Given the description of an element on the screen output the (x, y) to click on. 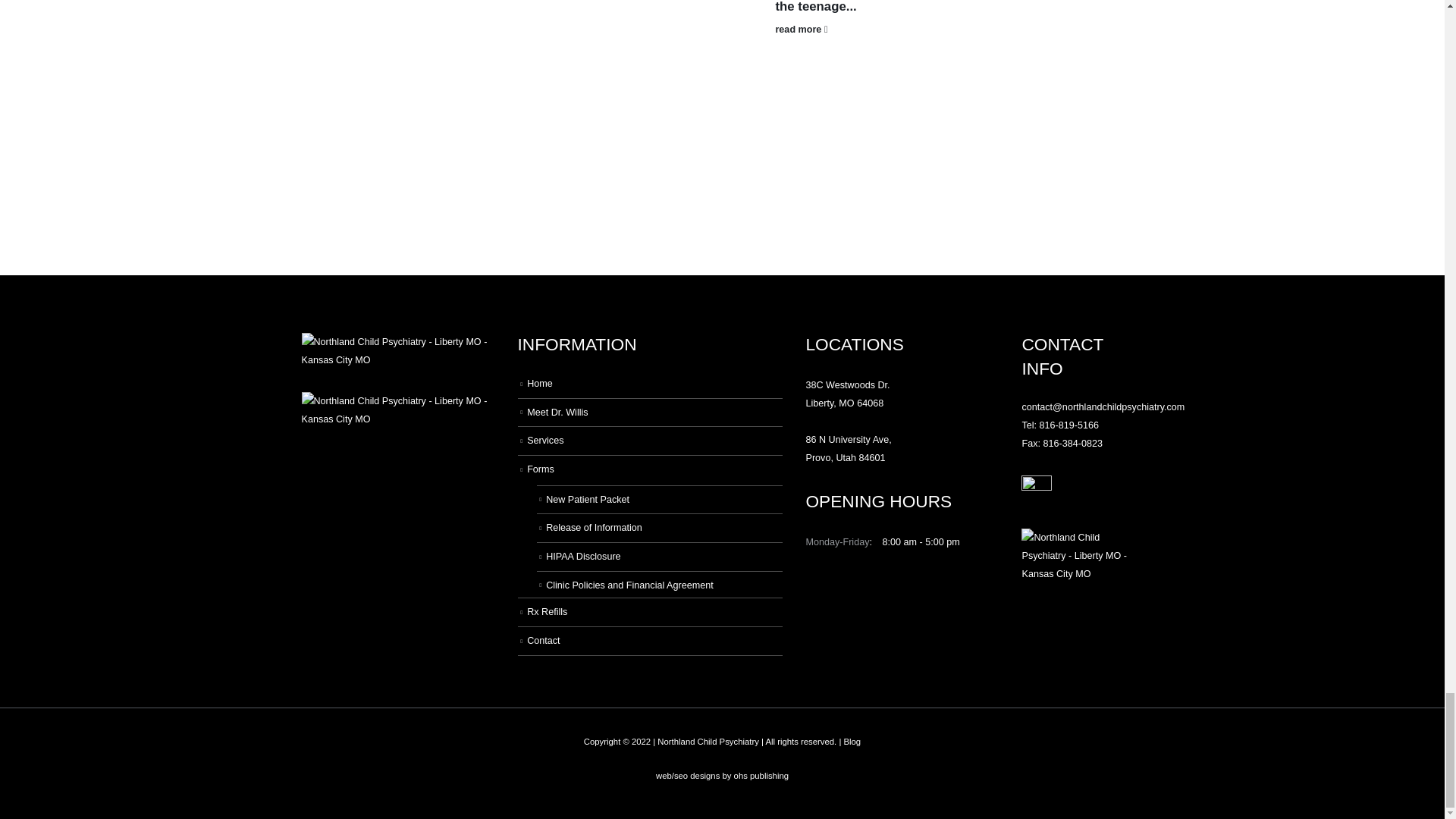
read more (850, 29)
read more (418, 2)
read more (634, 2)
